Given the description of an element on the screen output the (x, y) to click on. 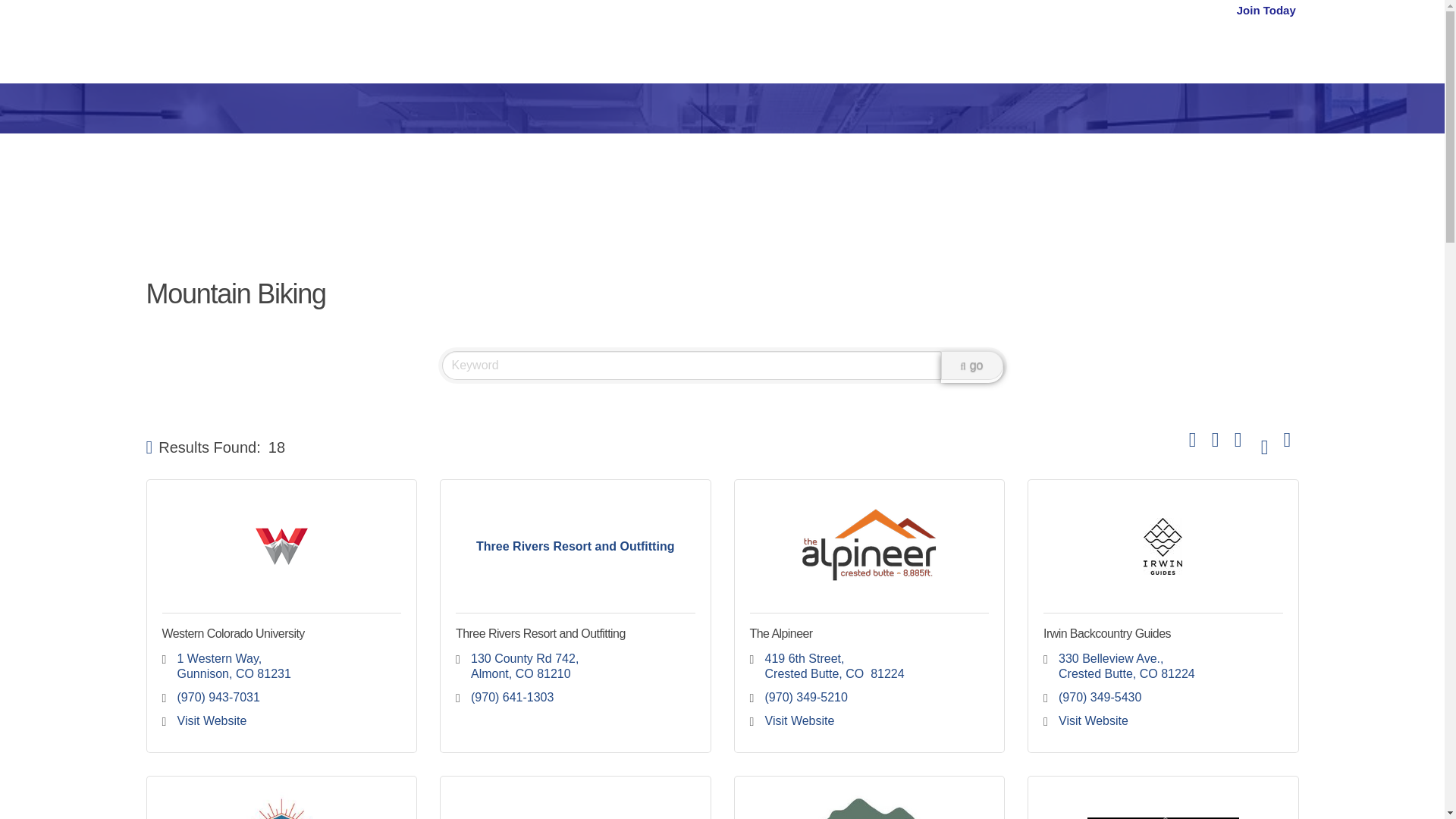
Member Area (1161, 41)
Business Directory (910, 41)
Contact These Businesses (1287, 439)
Join Today (1265, 41)
